Given the description of an element on the screen output the (x, y) to click on. 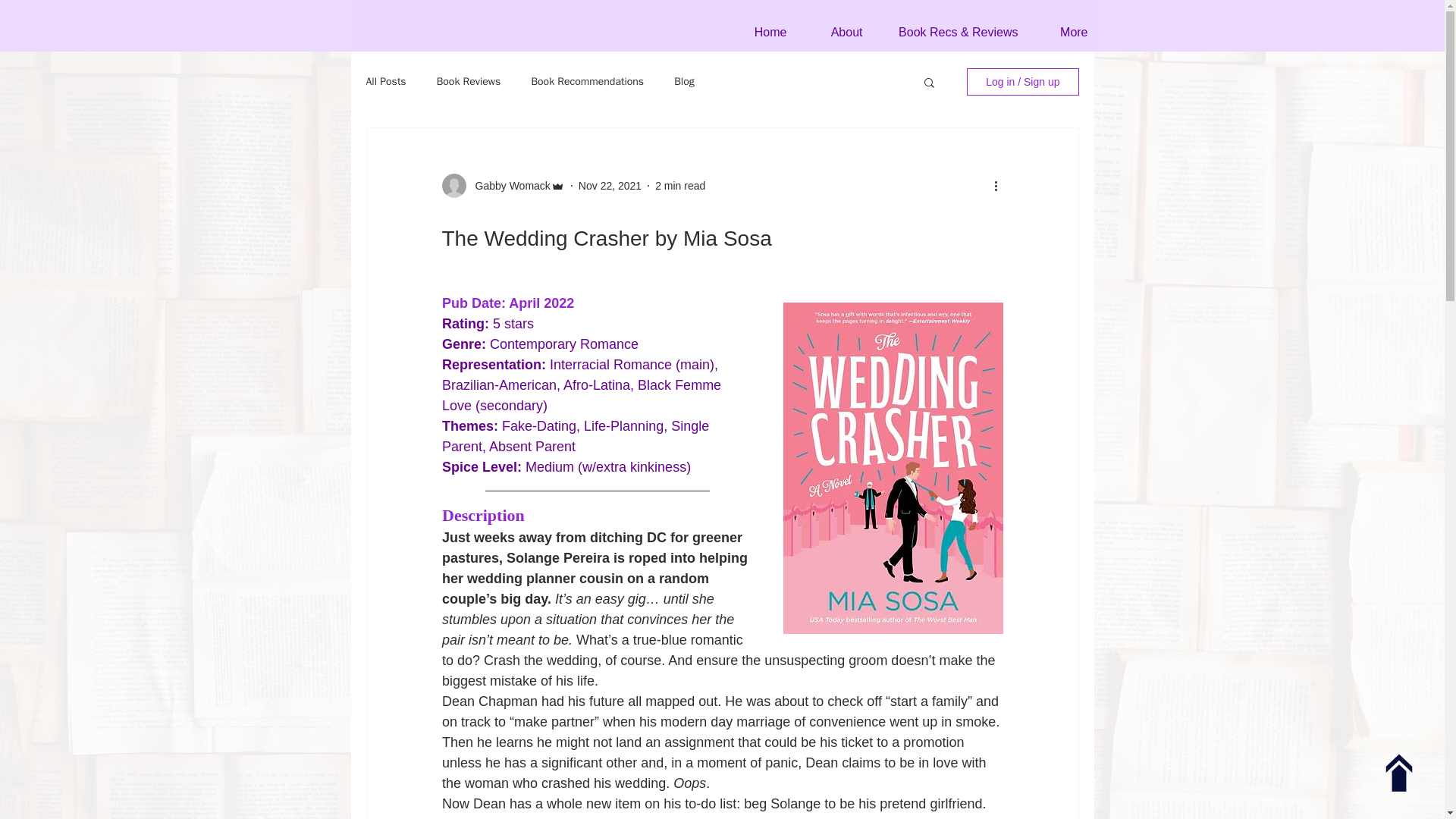
Home (759, 32)
Book Reviews (468, 81)
Gabby Womack (507, 185)
About (835, 32)
Blog (684, 81)
Book Recommendations (587, 81)
All Posts (385, 81)
Nov 22, 2021 (610, 184)
2 min read (679, 184)
